Given the description of an element on the screen output the (x, y) to click on. 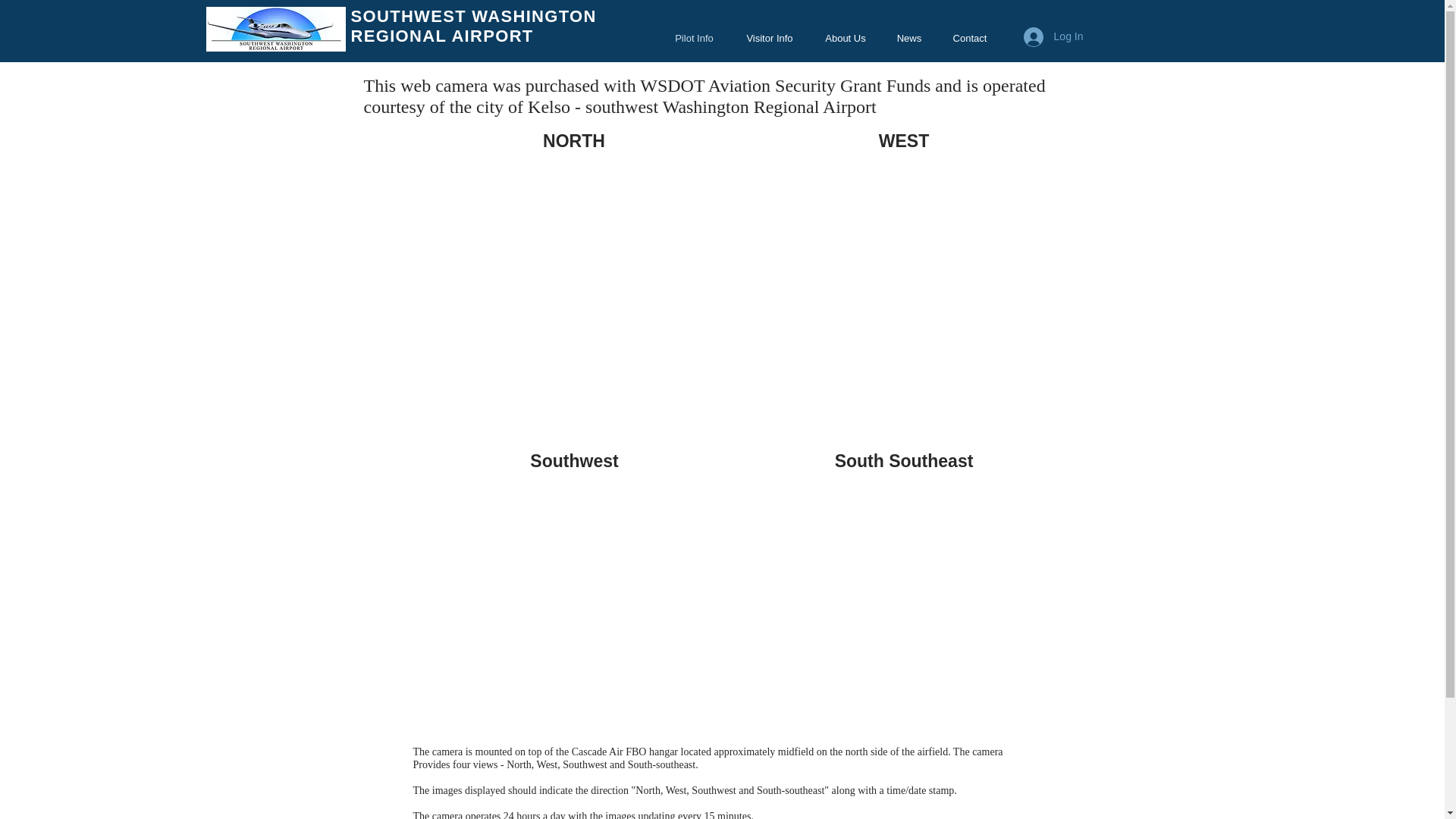
Logo 1.jpg (276, 28)
News (908, 37)
About Us (845, 37)
Log In (1053, 36)
Pilot Info (693, 37)
Visitor Info (769, 37)
Contact (970, 37)
SOUTHWEST WASHINGTON REGIONAL AIRPORT (472, 25)
